Given the description of an element on the screen output the (x, y) to click on. 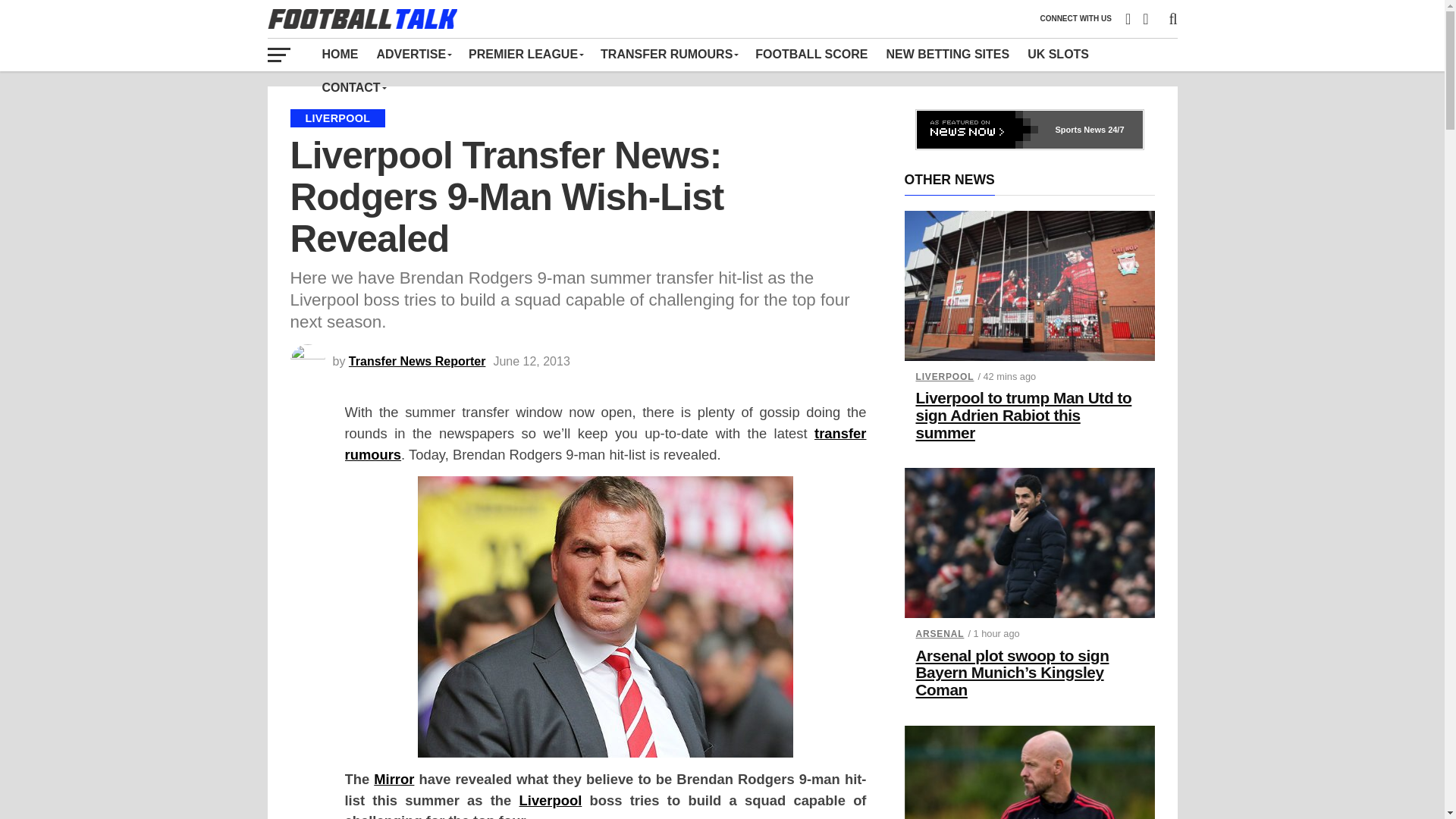
ADVERTISE (413, 54)
Premier League News (525, 54)
PREMIER LEAGUE (525, 54)
HOME (339, 54)
Advertise on Football-Talk (413, 54)
